Given the description of an element on the screen output the (x, y) to click on. 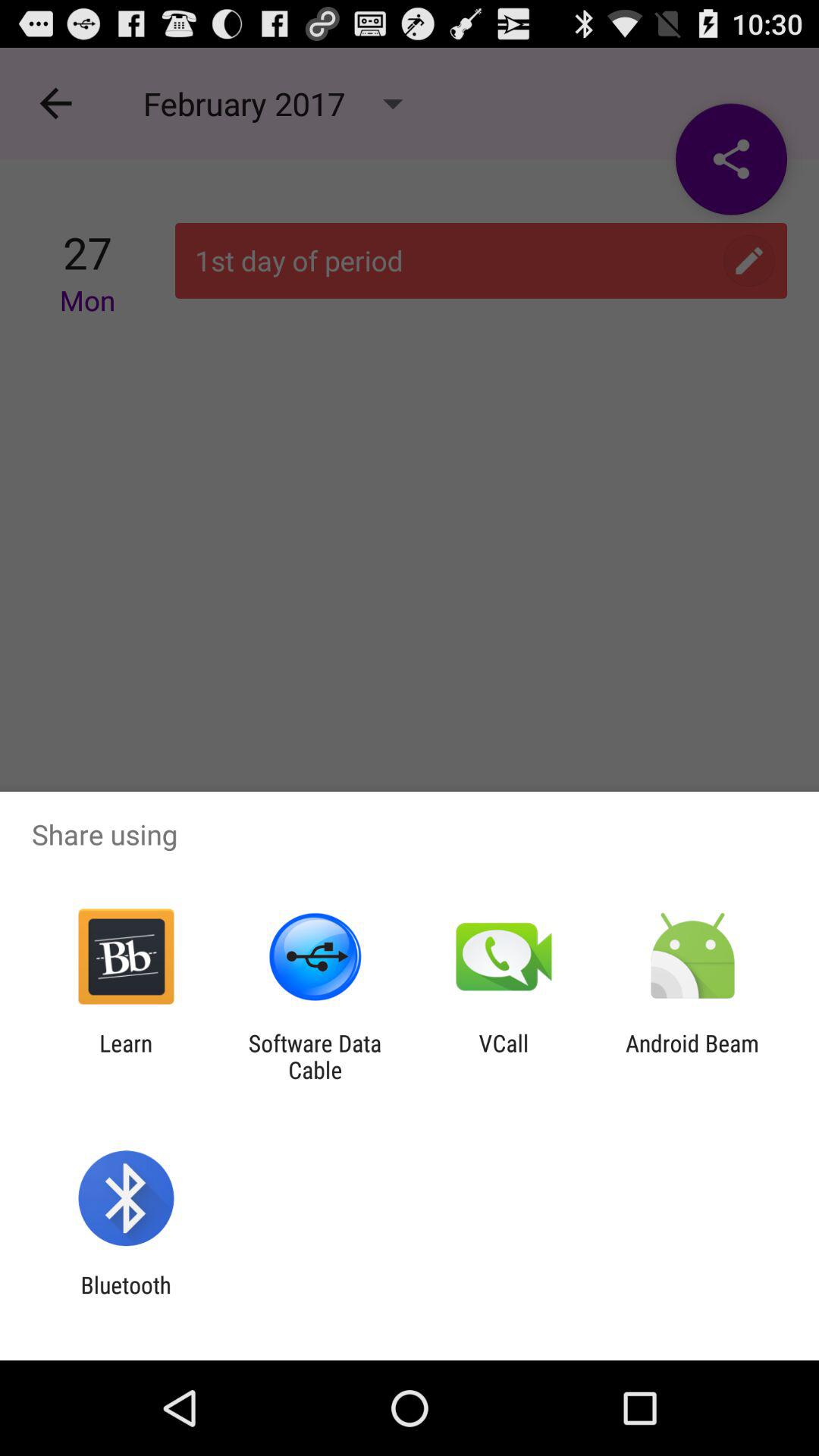
launch item next to learn icon (314, 1056)
